Given the description of an element on the screen output the (x, y) to click on. 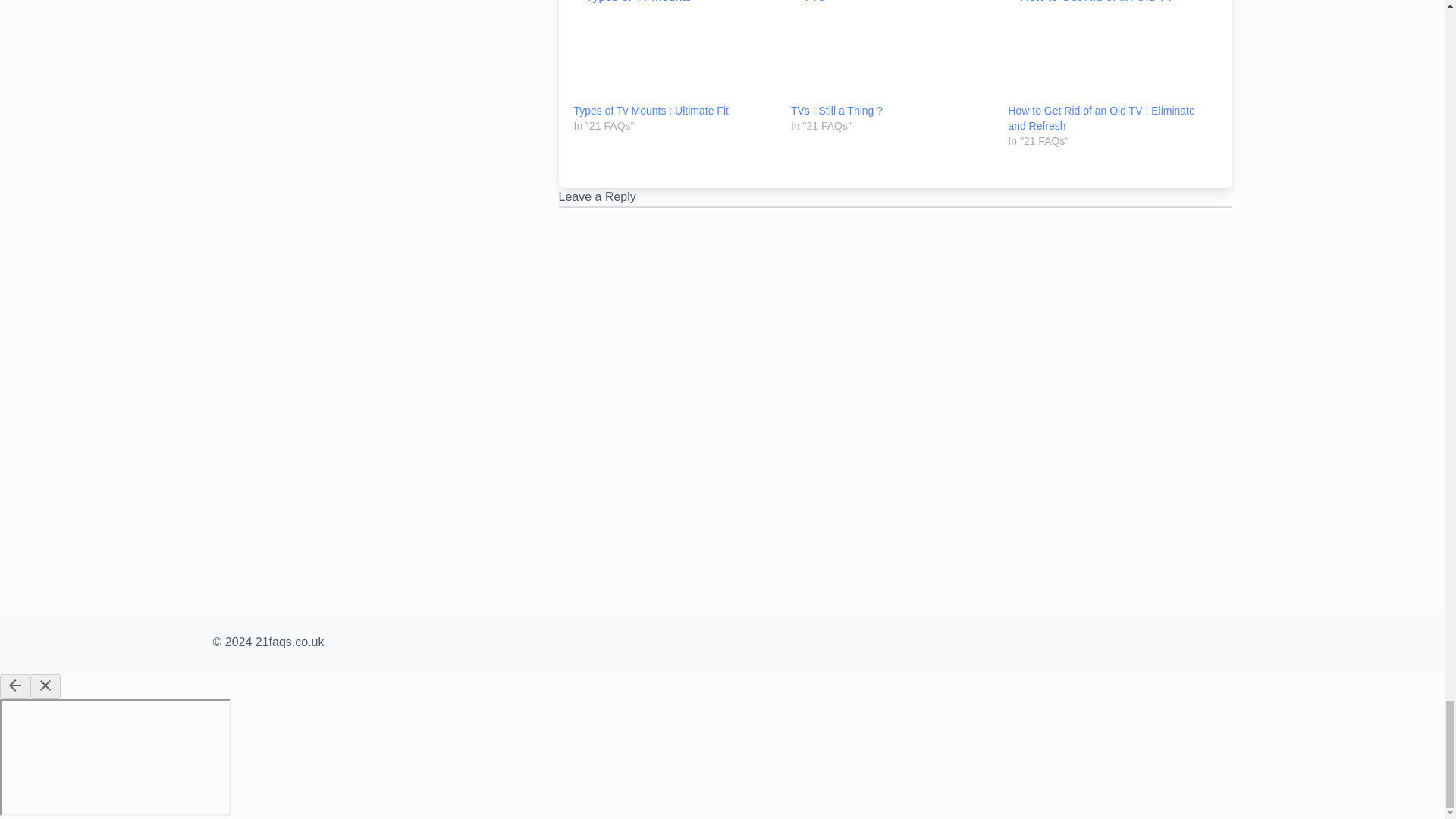
How to Get Rid of an Old TV : Eliminate and Refresh (1100, 117)
Types of Tv Mounts : Ultimate Fit (651, 110)
TVs : Still a Thing ? (836, 110)
